Given the description of an element on the screen output the (x, y) to click on. 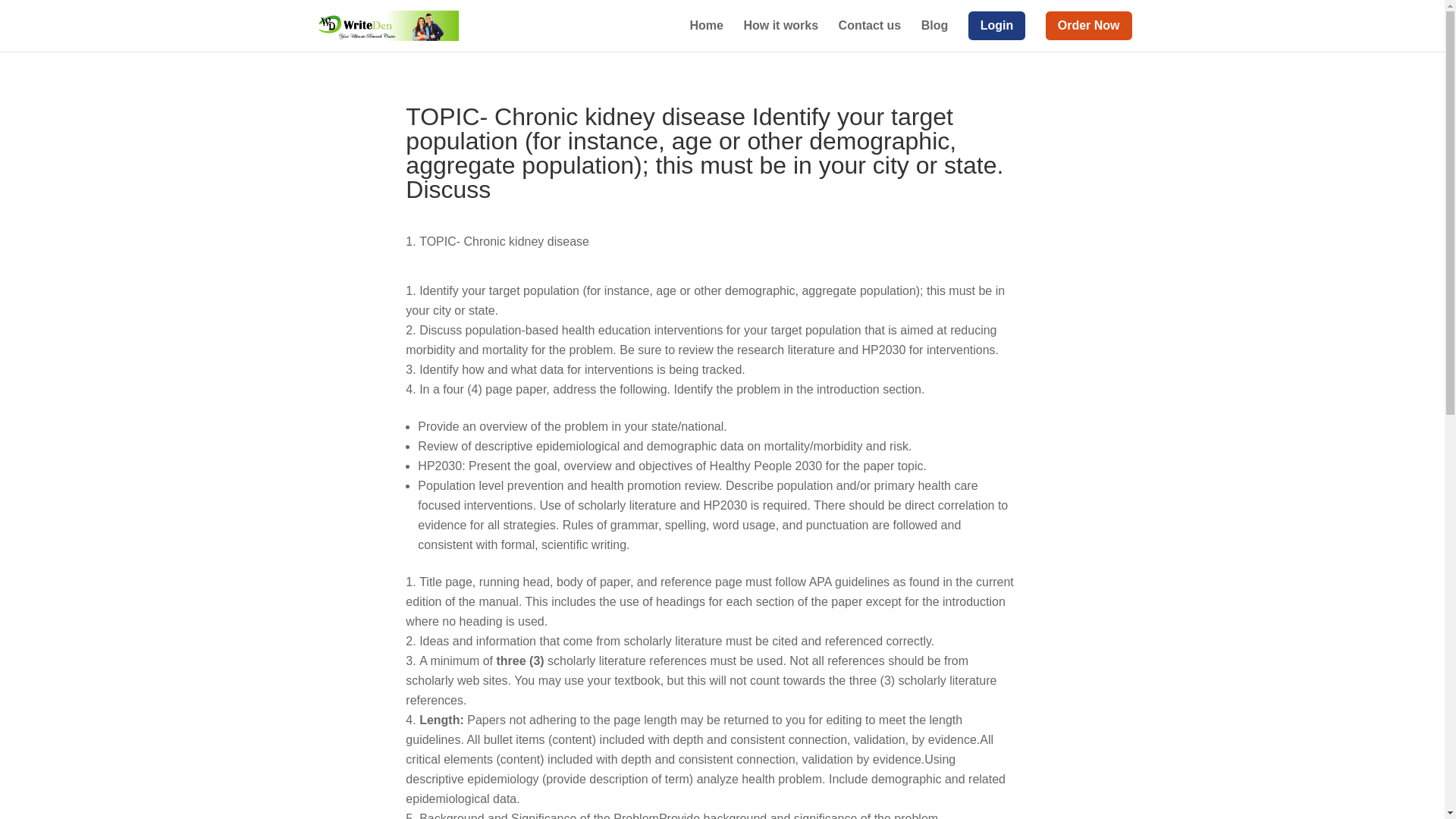
Login (997, 31)
Contact us (869, 31)
How it works (780, 31)
Blog (935, 31)
Order Now (1088, 31)
Home (706, 31)
